Given the description of an element on the screen output the (x, y) to click on. 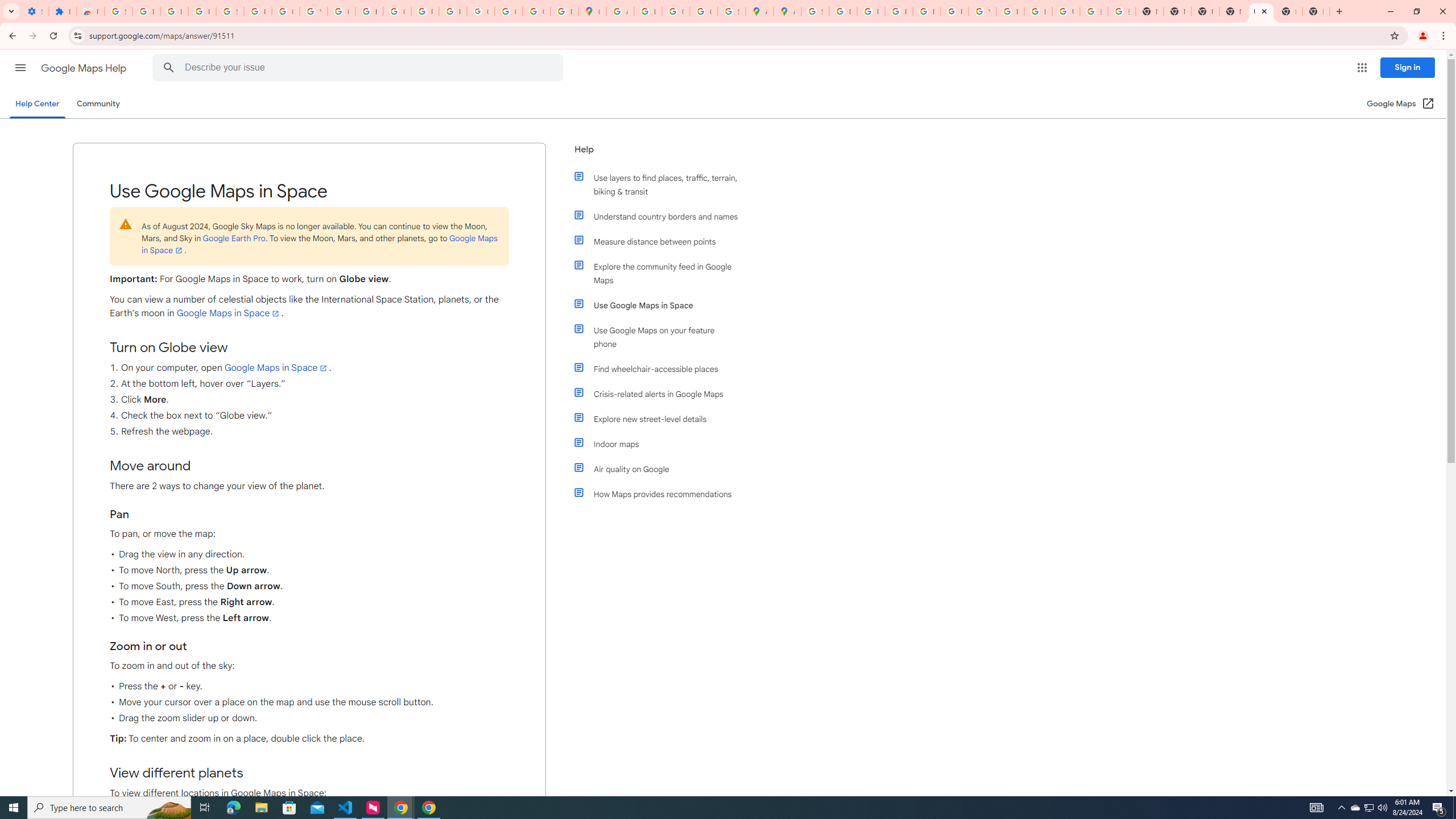
How Maps provides recommendations (661, 493)
Explore the community feed in Google Maps (661, 273)
Describe your issue (359, 67)
